Given the description of an element on the screen output the (x, y) to click on. 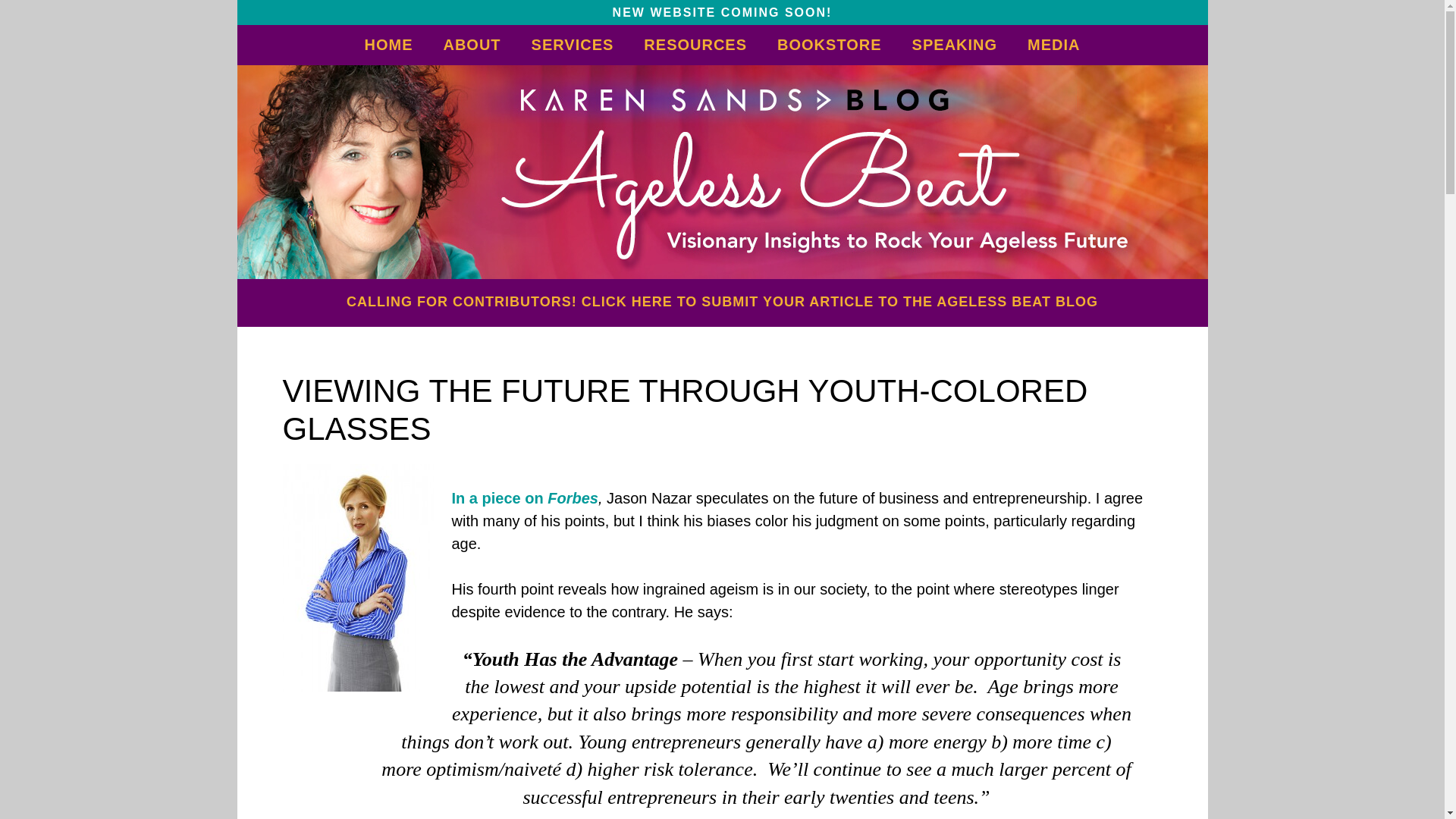
Karen Sands (722, 171)
HOME (388, 44)
BOOKSTORE (828, 44)
SERVICES (572, 44)
SPEAKING (953, 44)
ABOUT (471, 44)
RESOURCES (694, 44)
MEDIA (1052, 44)
In a piece on Forbes (524, 497)
